Given the description of an element on the screen output the (x, y) to click on. 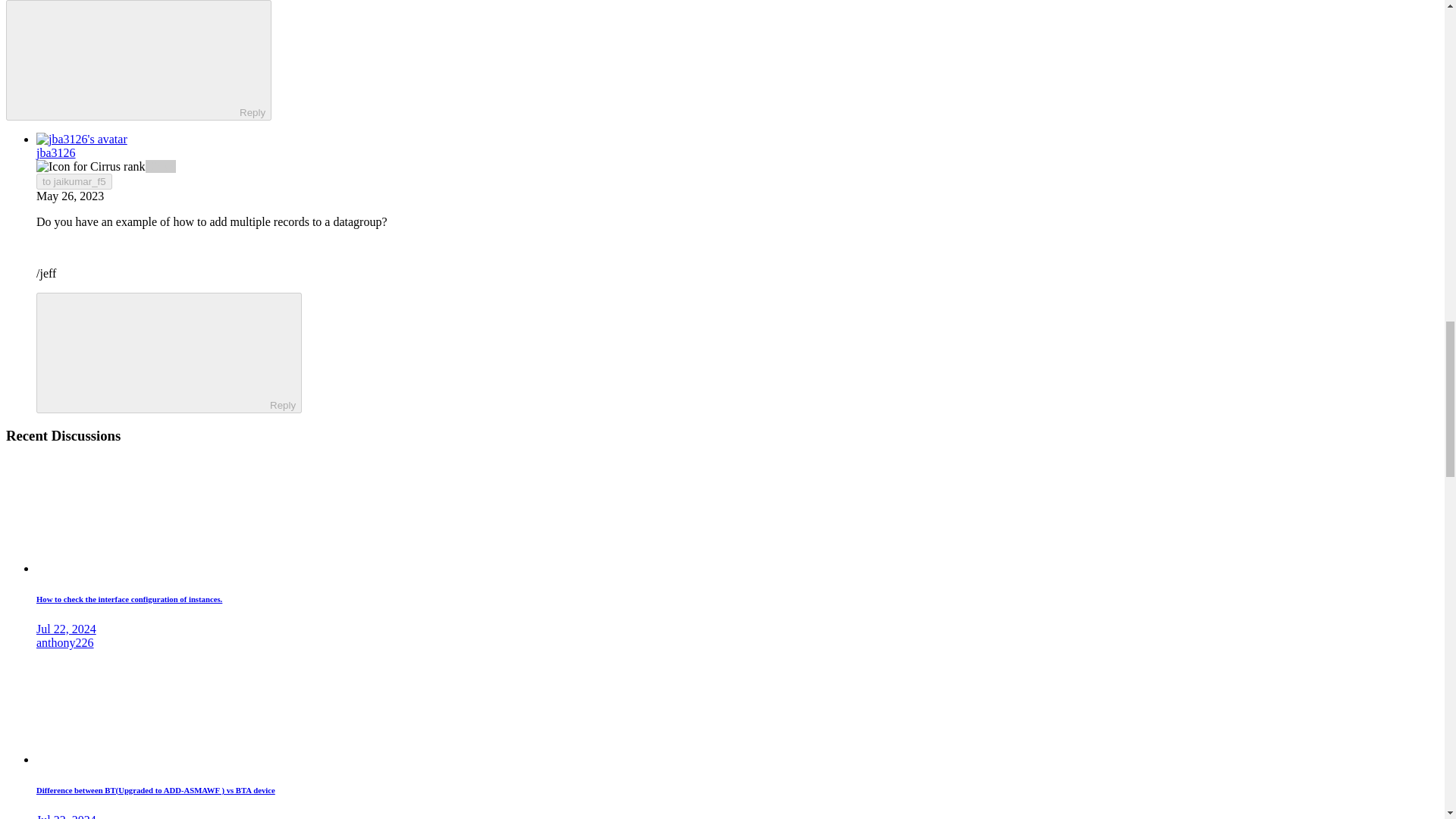
Reply (125, 59)
How to check the interface configuration of instances. (129, 598)
Jul 22, 2024 (66, 628)
ReplyReply (168, 352)
July 22, 2024 at 11:39 PM (66, 628)
ReplyReply (137, 60)
jba3126 (55, 152)
May 26, 2023 at 4:08 PM (69, 195)
Jul 22, 2024 (66, 816)
Reply (155, 351)
anthony226 (65, 642)
July 22, 2024 at 6:53 PM (66, 816)
